Given the description of an element on the screen output the (x, y) to click on. 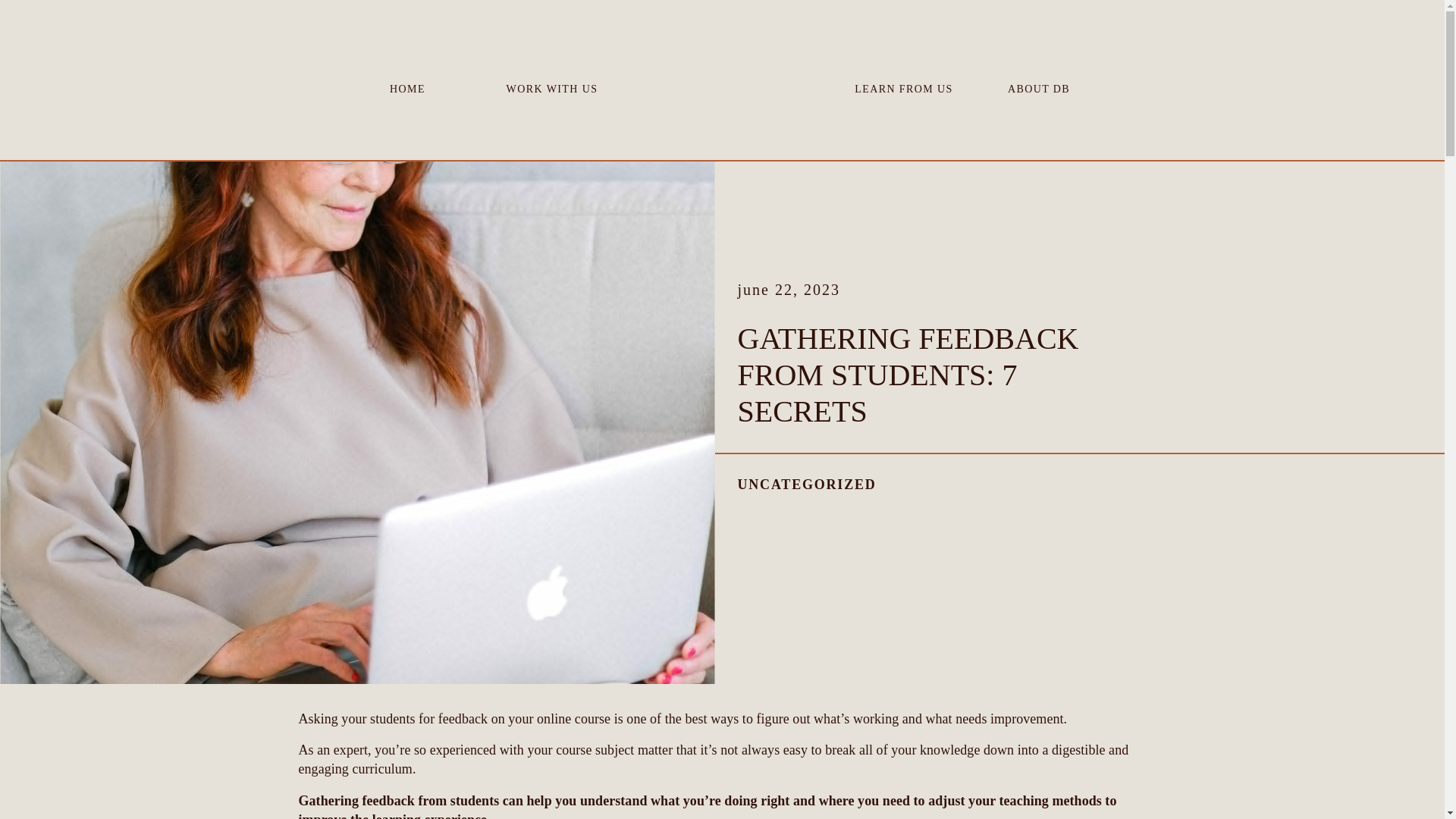
UNCATEGORIZED (806, 484)
ABOUT DB (1038, 86)
LEARN FROM US (902, 86)
HOME (406, 86)
WORK WITH US (551, 86)
